Given the description of an element on the screen output the (x, y) to click on. 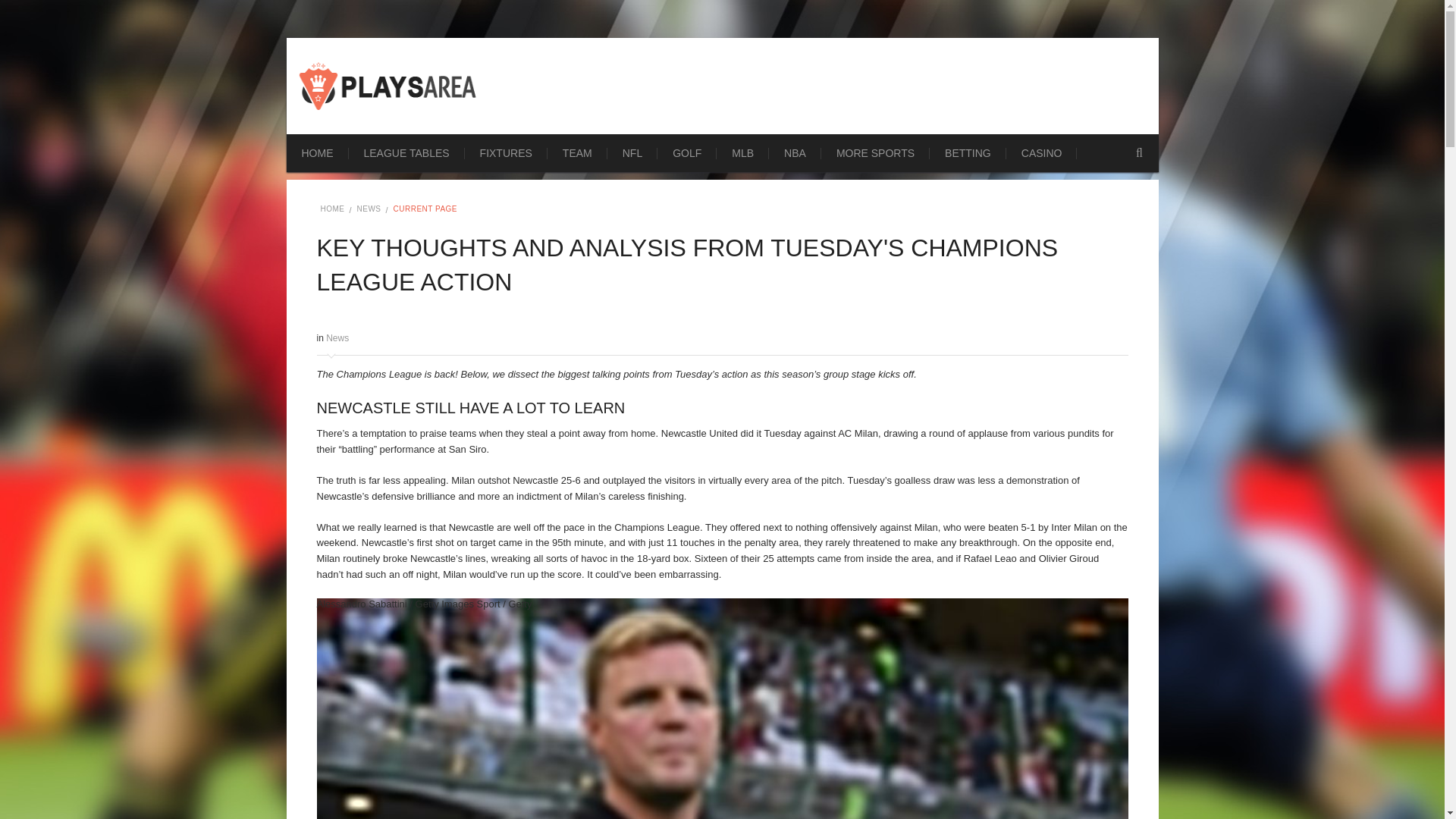
HOME (331, 208)
FIXTURES (505, 152)
NBA (794, 152)
MLB (742, 152)
BETTING (968, 152)
NEWS (368, 208)
HOME (317, 152)
CASINO (1041, 152)
News (337, 337)
NFL (632, 152)
GOLF (687, 152)
MORE SPORTS (875, 152)
TEAM (577, 152)
LEAGUE TABLES (406, 152)
